Given the description of an element on the screen output the (x, y) to click on. 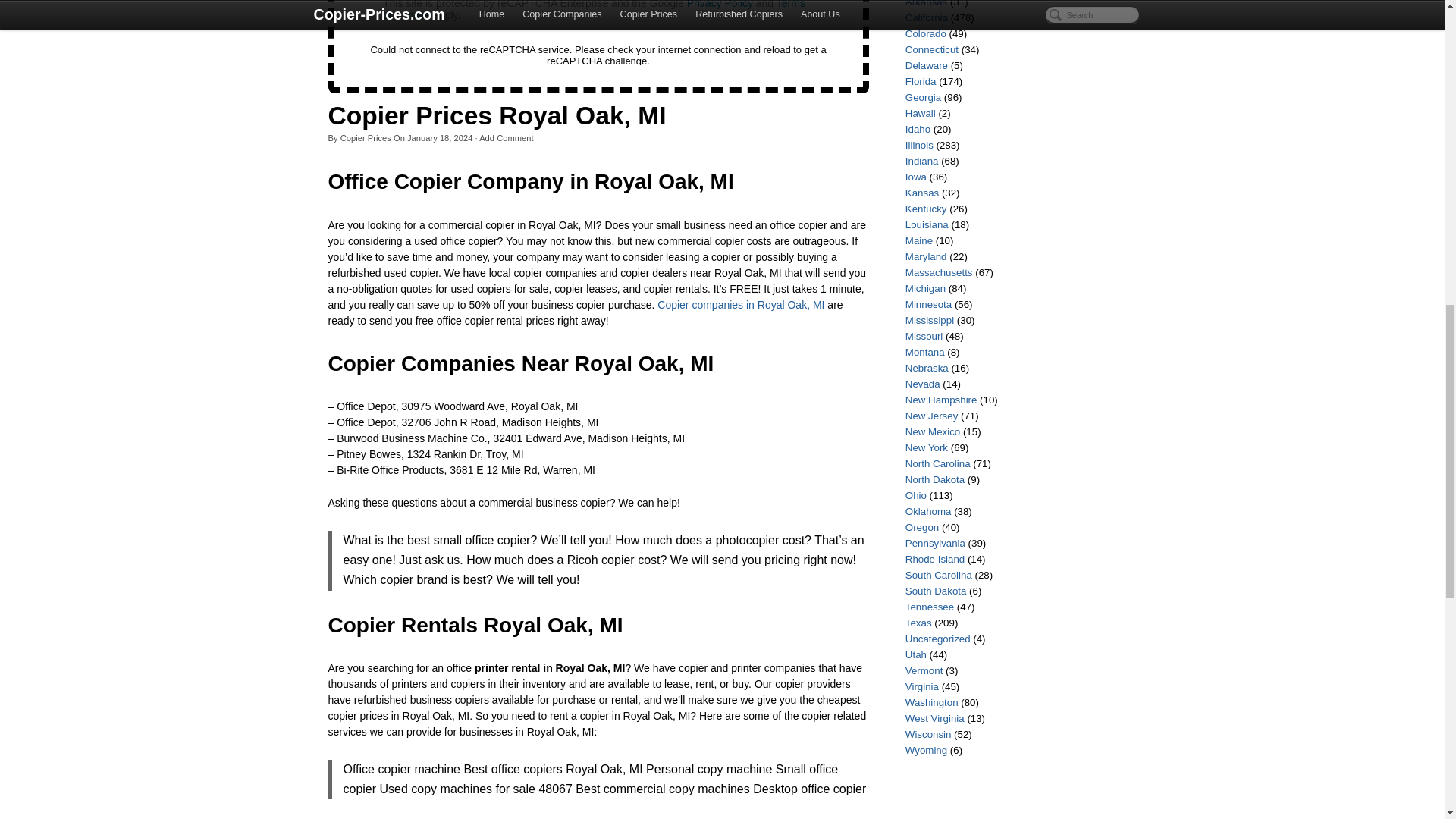
Embedded Wufoo Form (597, 32)
Posts by Copier Prices (365, 137)
Copier companies in Royal Oak, MI (741, 304)
Copier Prices (365, 137)
Add Comment (506, 137)
